Given the description of an element on the screen output the (x, y) to click on. 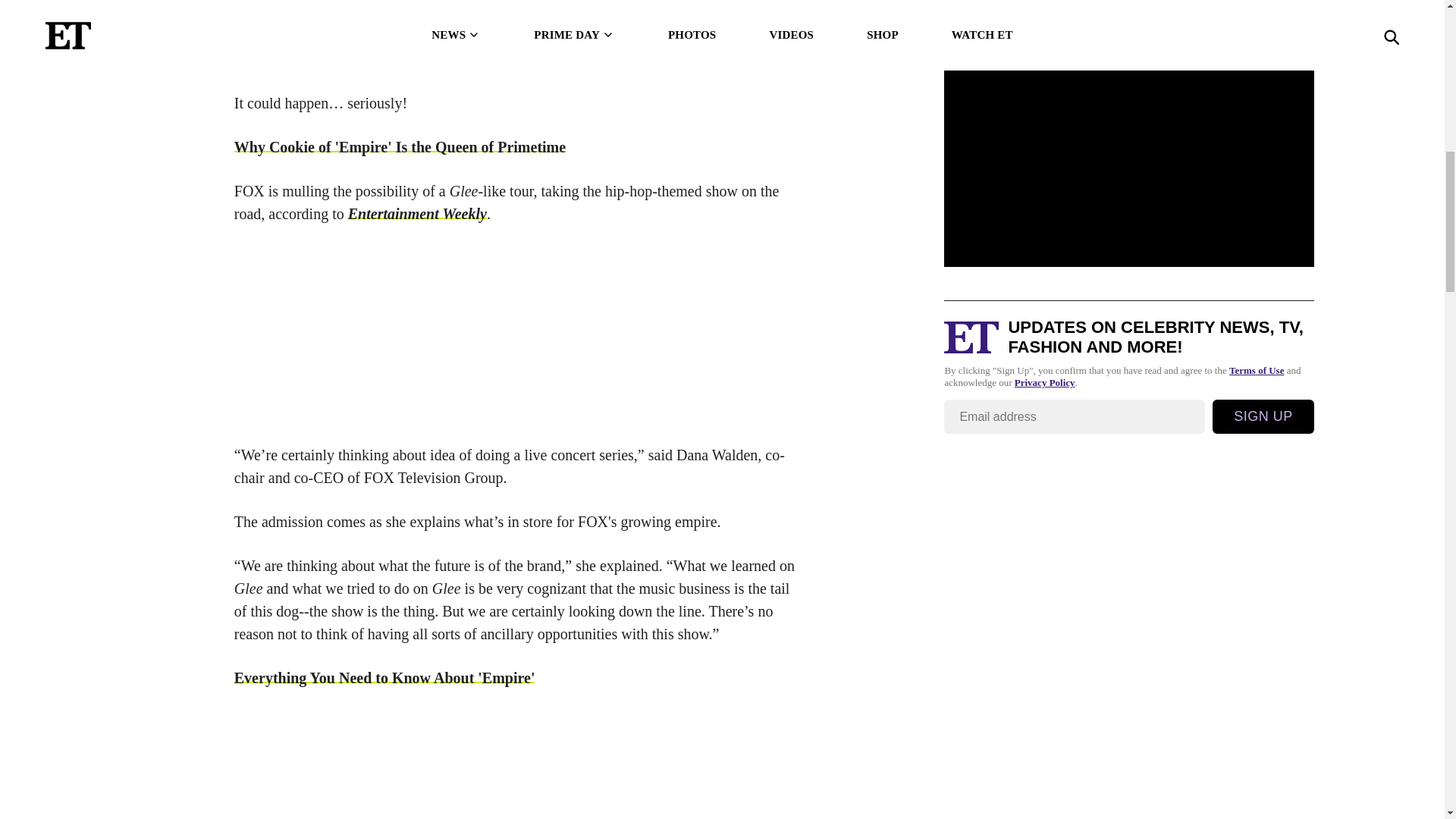
3rd party ad content (519, 333)
